Given the description of an element on the screen output the (x, y) to click on. 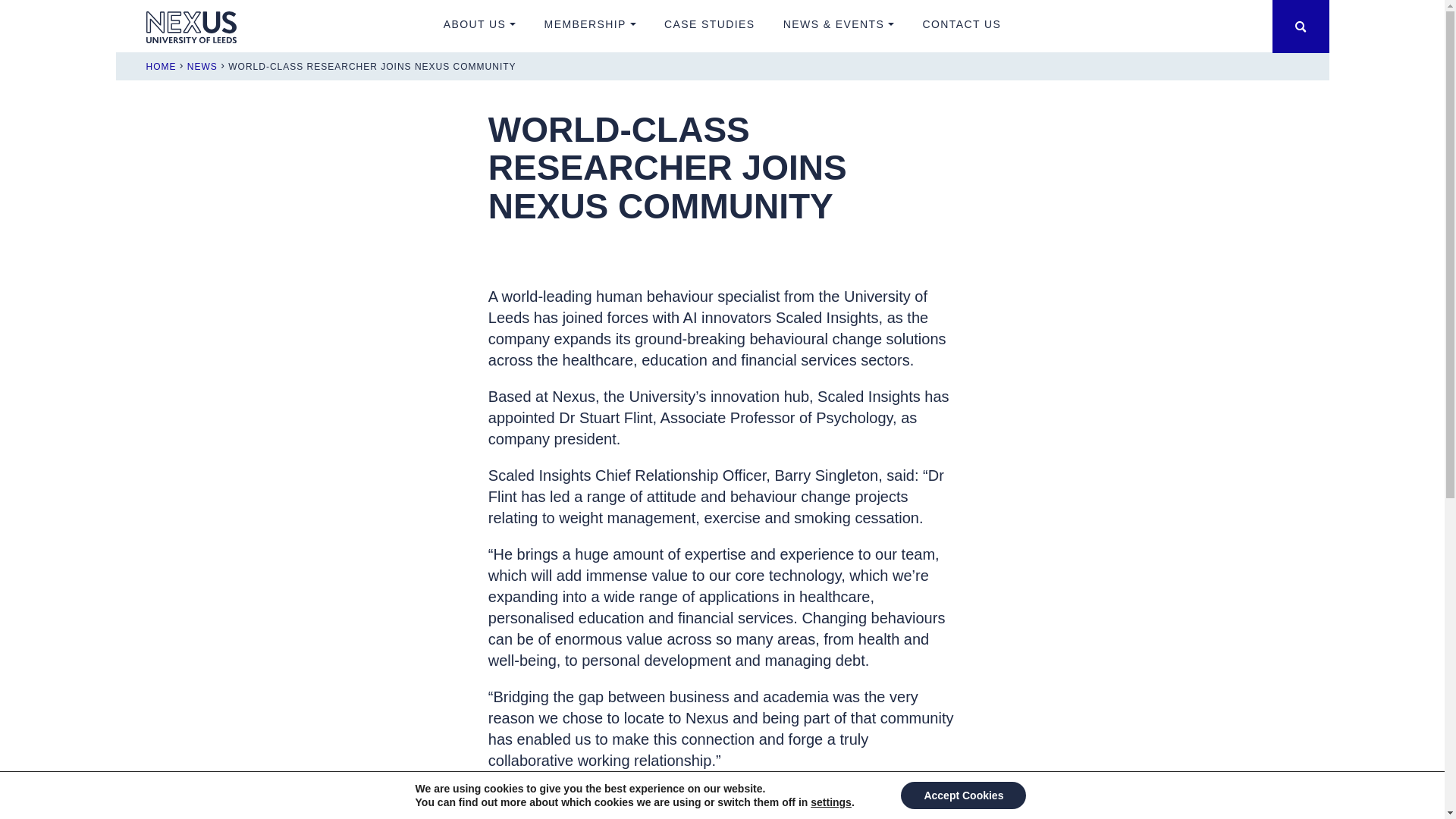
HOME (160, 66)
settings (830, 802)
Search (1300, 26)
Search (1300, 26)
NEWS (201, 66)
Search (1300, 26)
CONTACT US (961, 26)
MEMBERSHIP (589, 26)
Accept Cookies (963, 795)
ABOUT US (479, 26)
CASE STUDIES (709, 26)
